Given the description of an element on the screen output the (x, y) to click on. 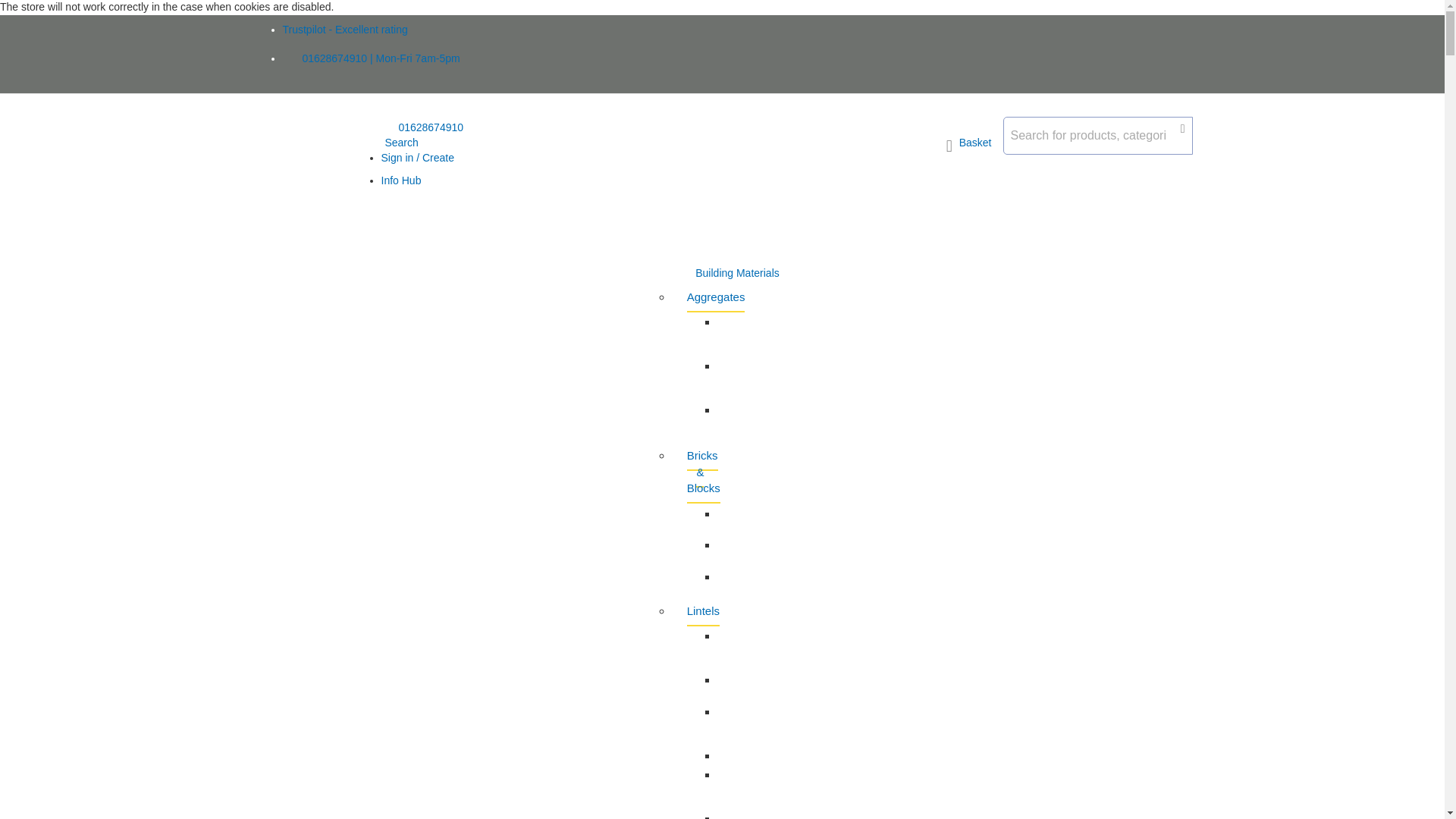
Concrete Blocks (739, 519)
Archformers (747, 755)
Aggregates (716, 297)
Lintels (703, 611)
Building Materials (737, 273)
Concrete Lintel (739, 811)
Trustpilot - Excellent rating (344, 29)
Building Materials Nationwide (315, 174)
Engineering Brick (747, 550)
Info Hub (400, 180)
Basket (968, 146)
Search (398, 142)
01628674910 (421, 127)
